Given the description of an element on the screen output the (x, y) to click on. 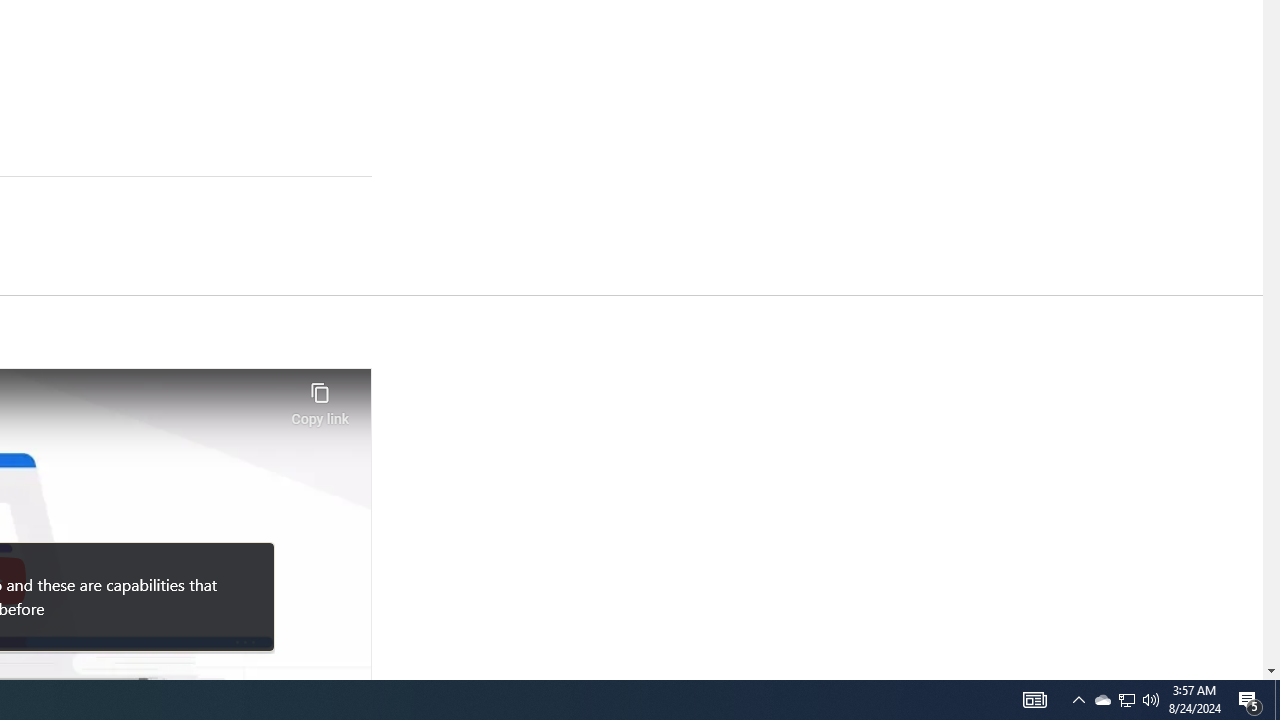
Copy link (319, 398)
